Given the description of an element on the screen output the (x, y) to click on. 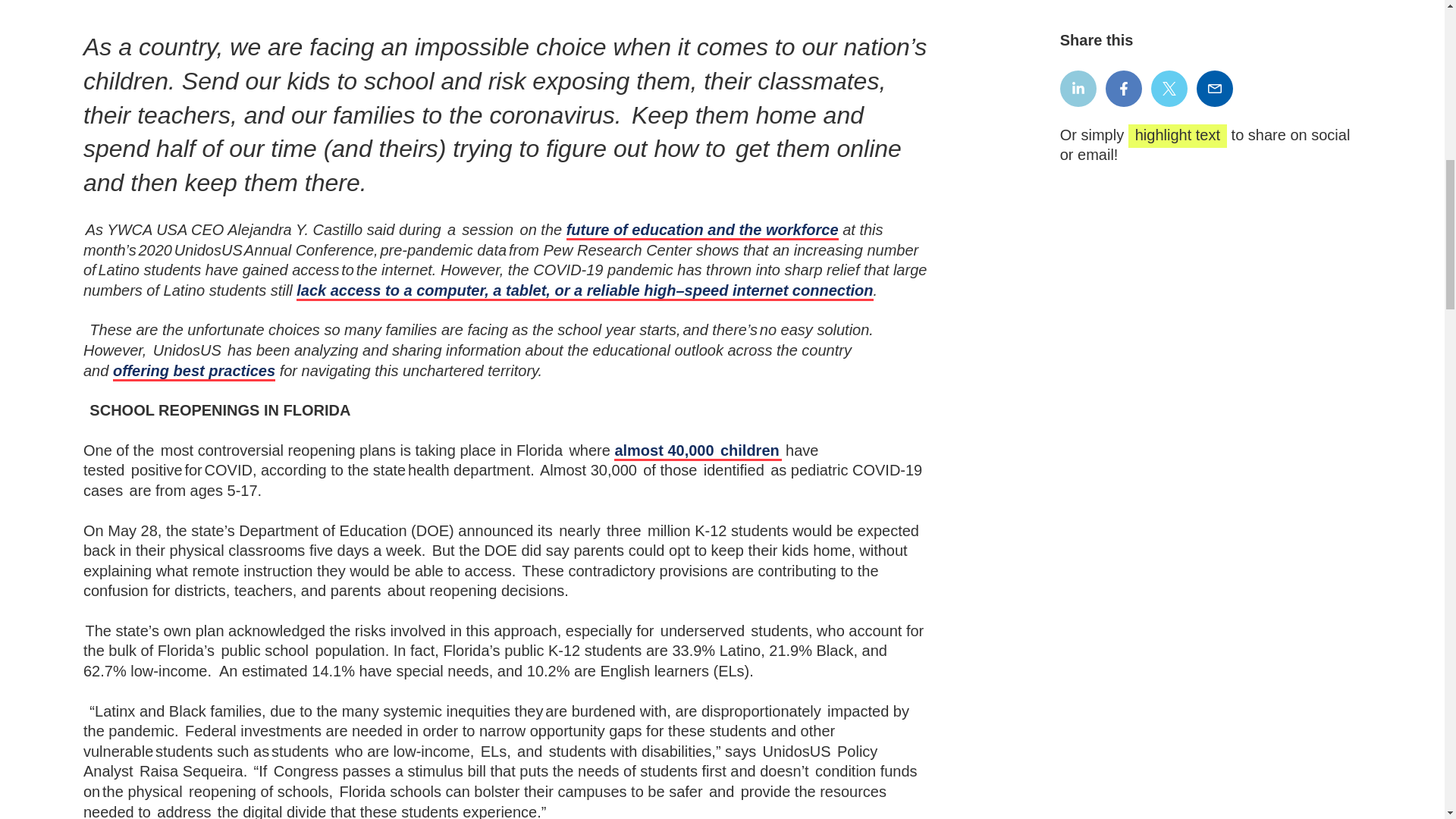
offering best practices (194, 371)
Email share (1214, 88)
Facebook share (1123, 88)
LinkedIn share (1077, 88)
X share (1169, 88)
future of education and the workforce (702, 230)
